Given the description of an element on the screen output the (x, y) to click on. 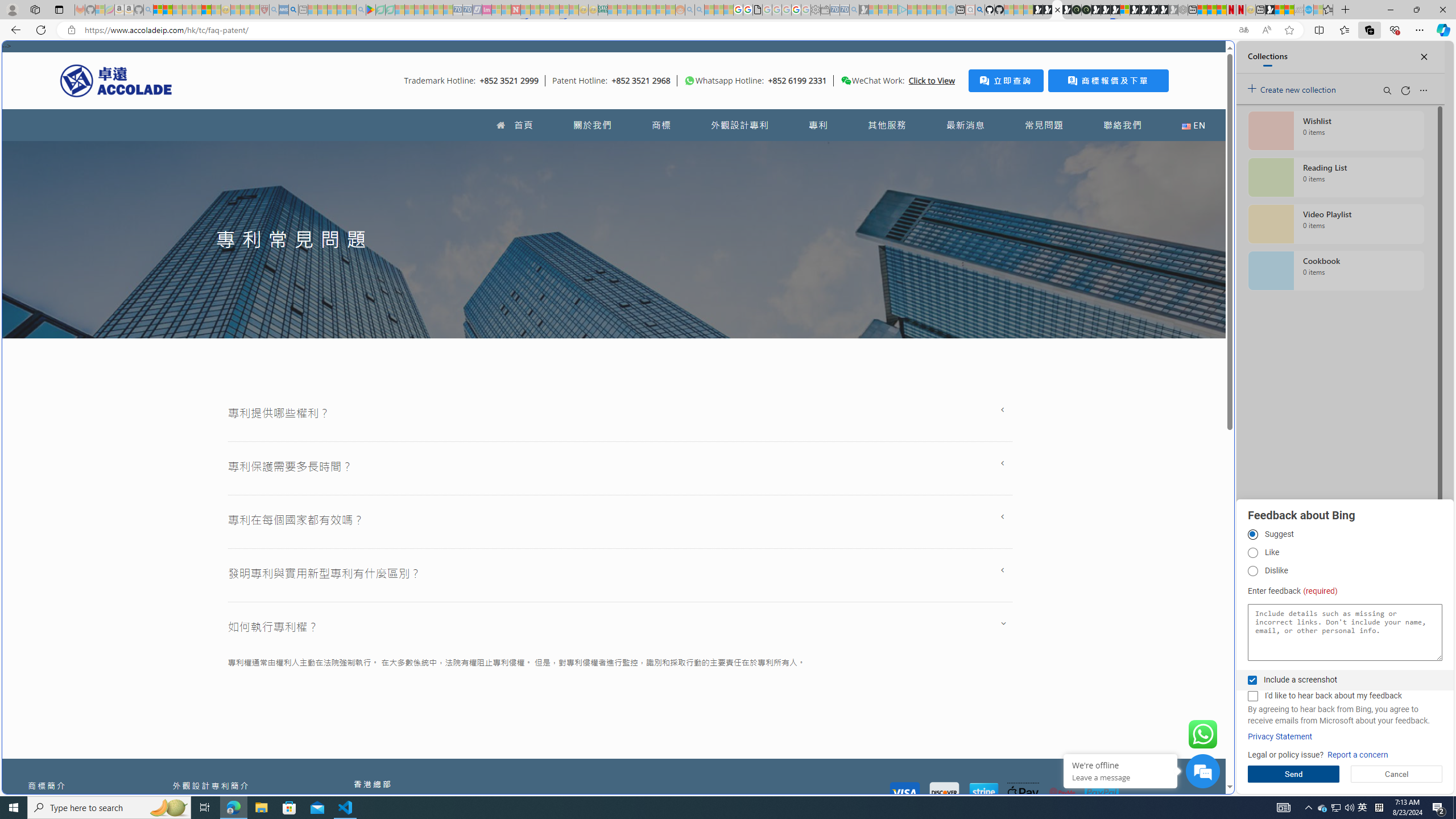
Accolade IP HK Logo (116, 80)
Privacy Statement (1280, 737)
Tabs you've opened (885, 151)
